Given the description of an element on the screen output the (x, y) to click on. 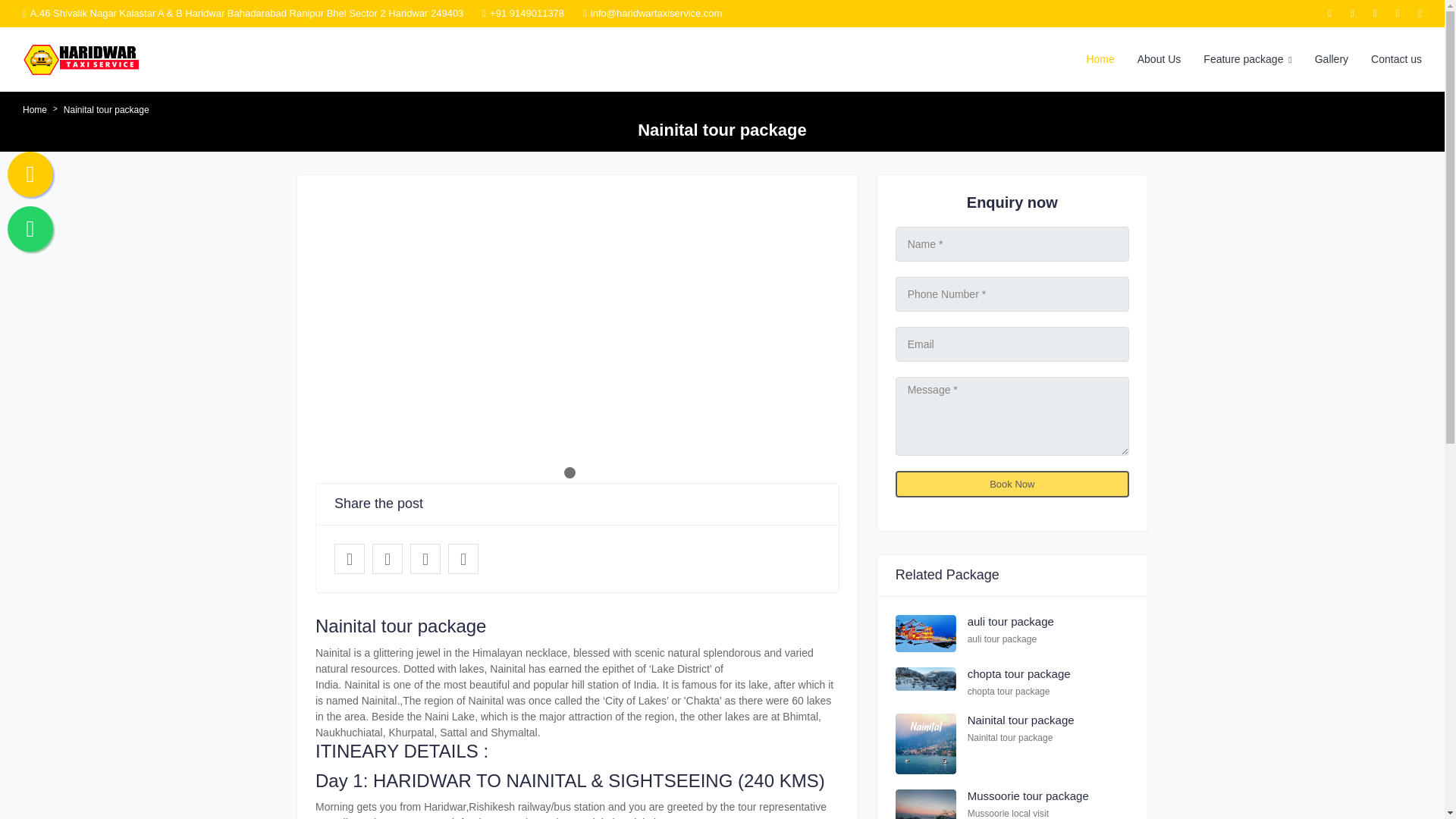
chopta tour package (1019, 673)
Nainital tour package (463, 558)
Facebook (349, 558)
Twitter (387, 558)
Home (34, 109)
Share on LinkedIn (425, 558)
Mussoorie tour package (1028, 795)
Feature package (1247, 59)
auli tour package (1011, 621)
Book Now (1012, 483)
Nainital tour package (1021, 719)
